Given the description of an element on the screen output the (x, y) to click on. 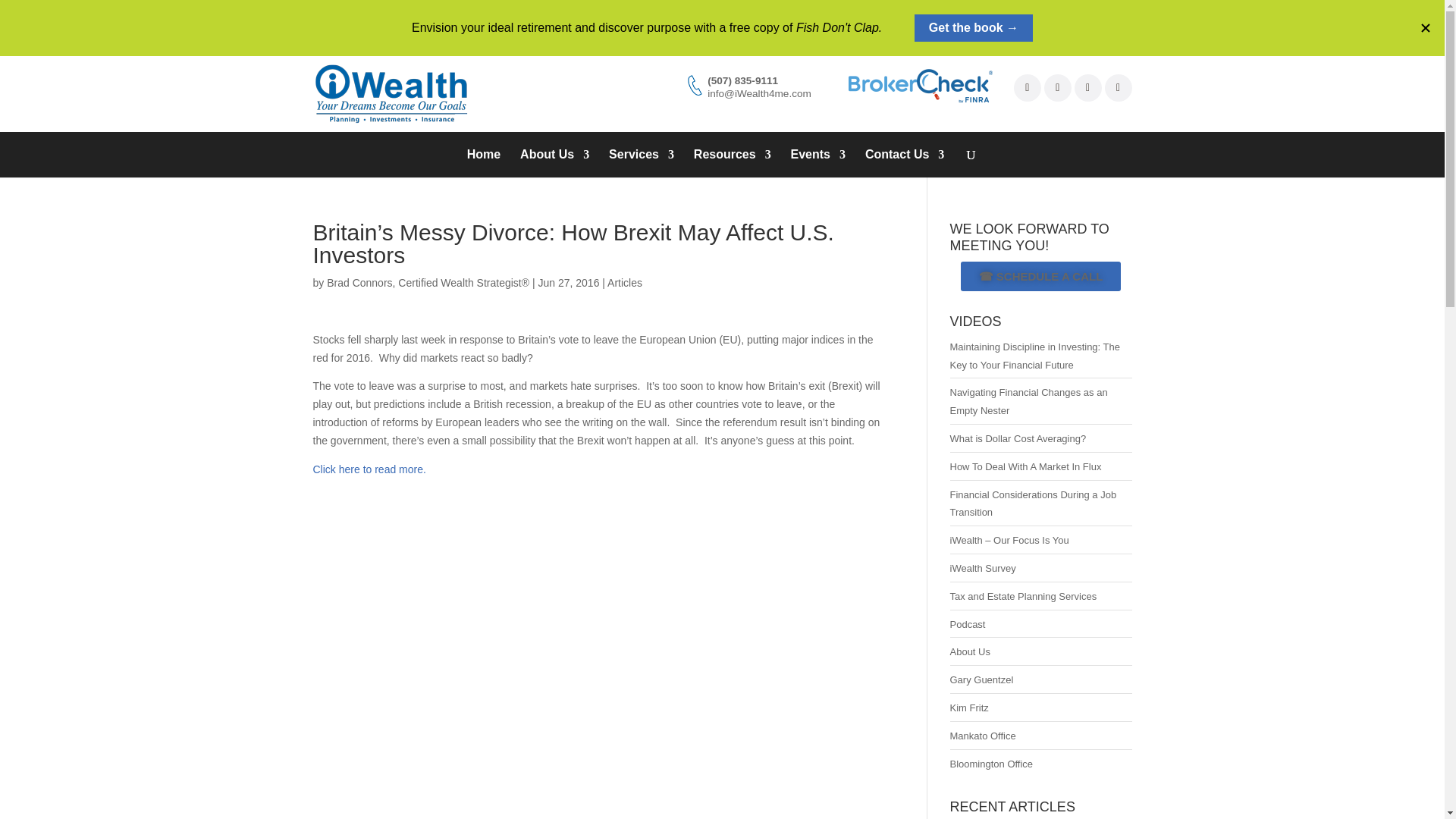
Resources (732, 154)
Services (641, 154)
Events (817, 154)
About Us (554, 154)
Contact Us (903, 154)
